Given the description of an element on the screen output the (x, y) to click on. 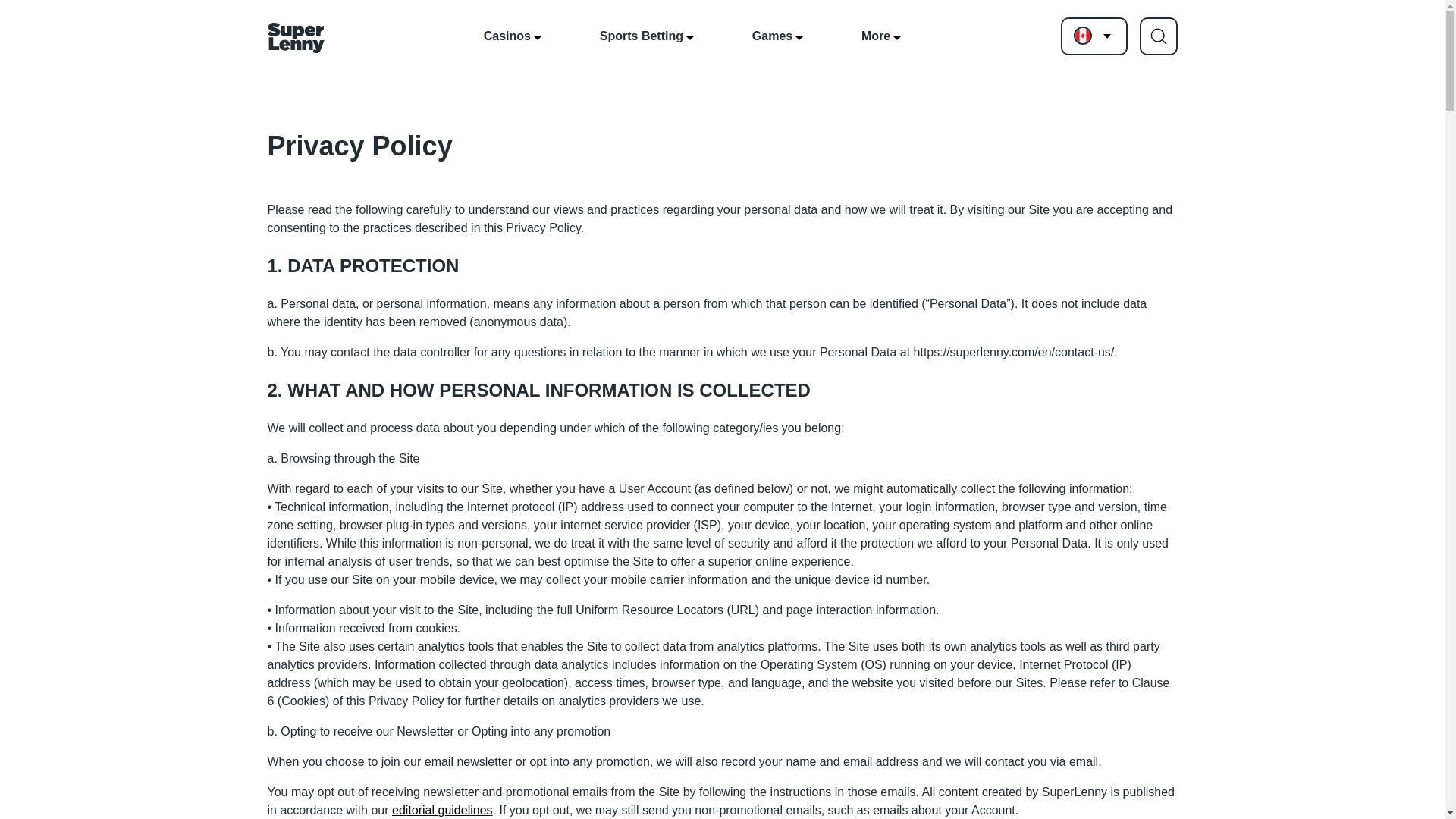
Games (777, 36)
Superlenny (294, 40)
Sports Betting (647, 36)
More (880, 36)
Casinos (512, 36)
Casinos (512, 36)
Sports Betting (647, 36)
Games (777, 36)
